Given the description of an element on the screen output the (x, y) to click on. 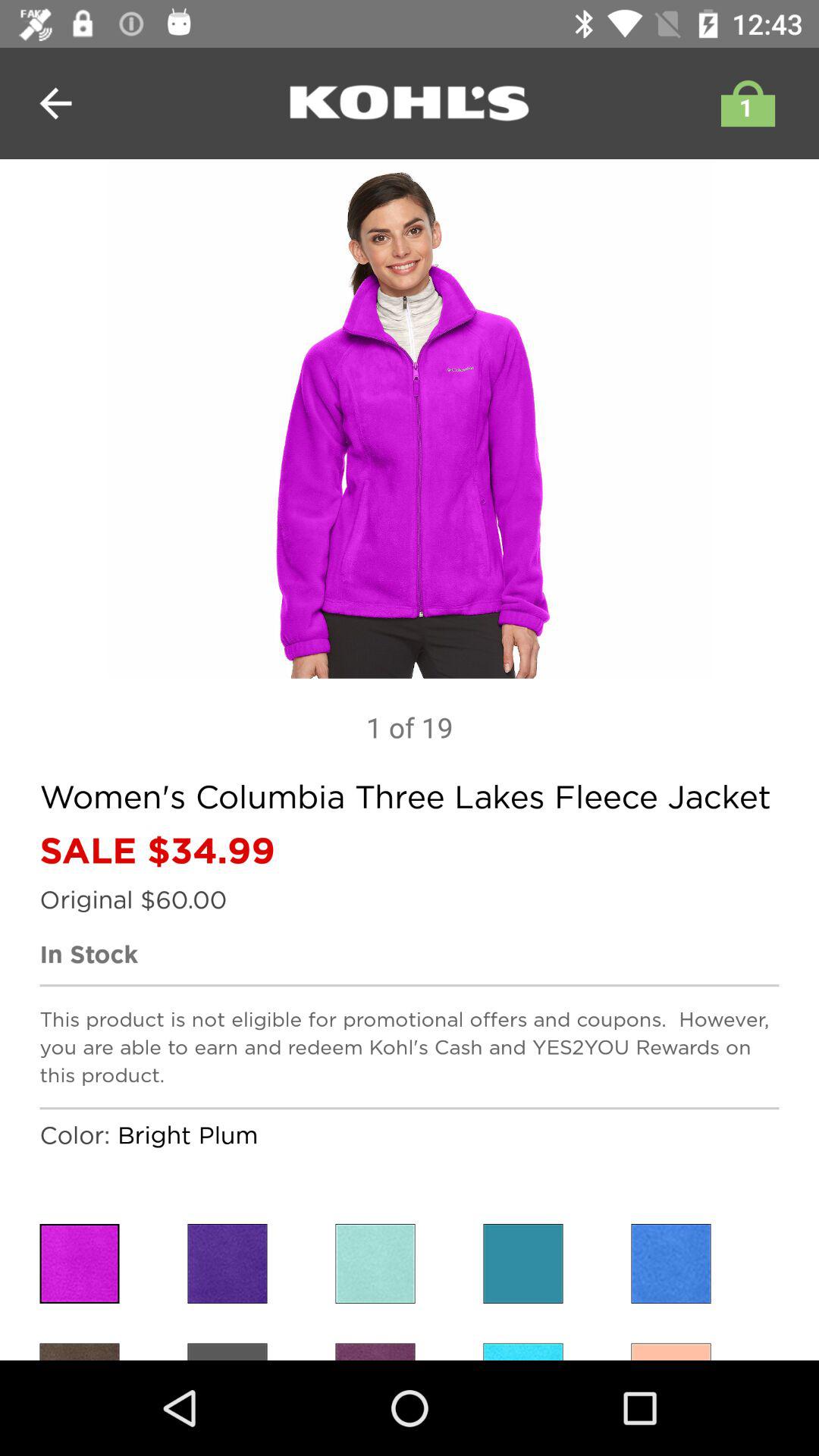
choose brown (79, 1351)
